Given the description of an element on the screen output the (x, y) to click on. 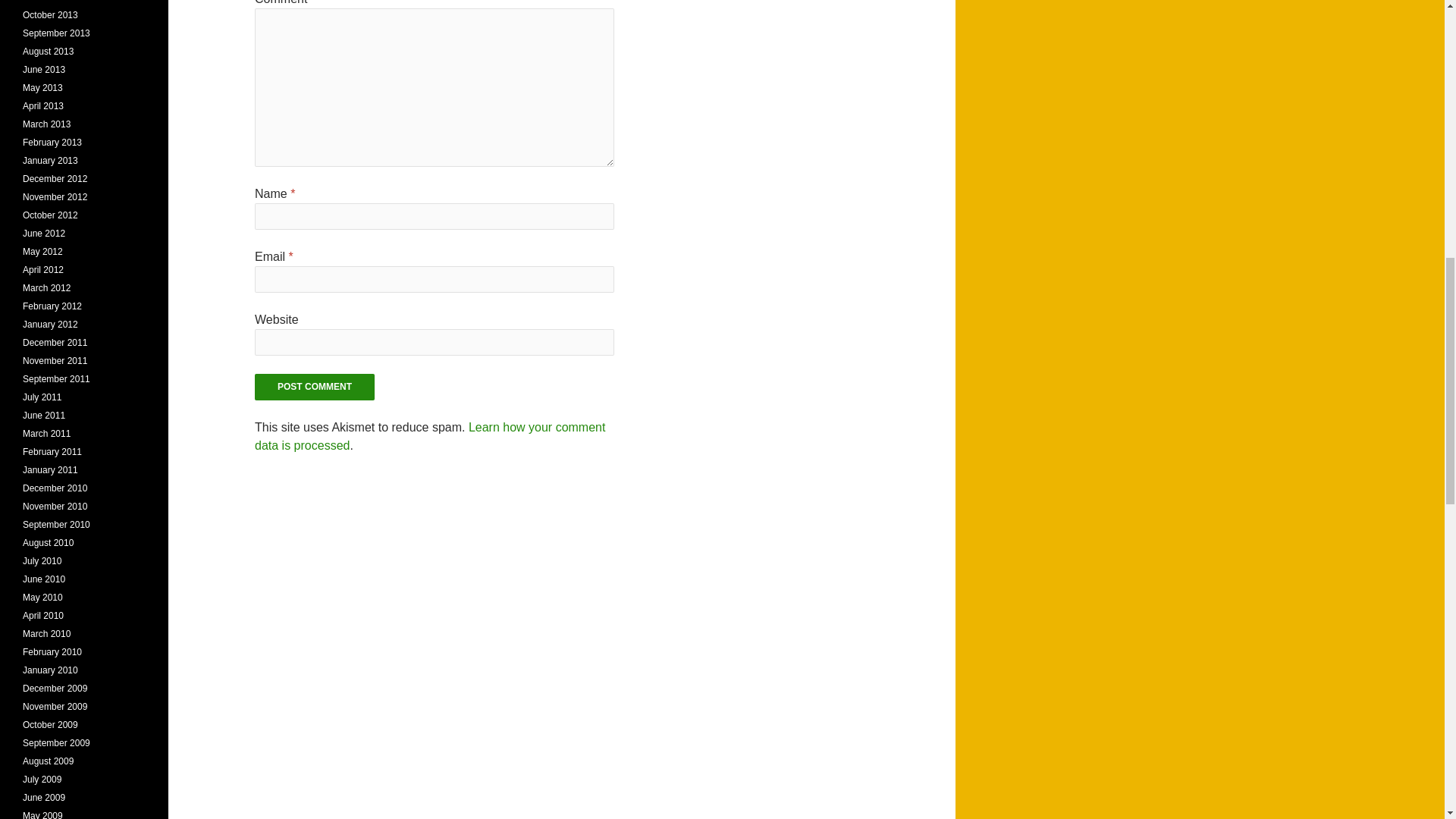
Post Comment (314, 386)
Learn how your comment data is processed (429, 436)
Post Comment (314, 386)
